Given the description of an element on the screen output the (x, y) to click on. 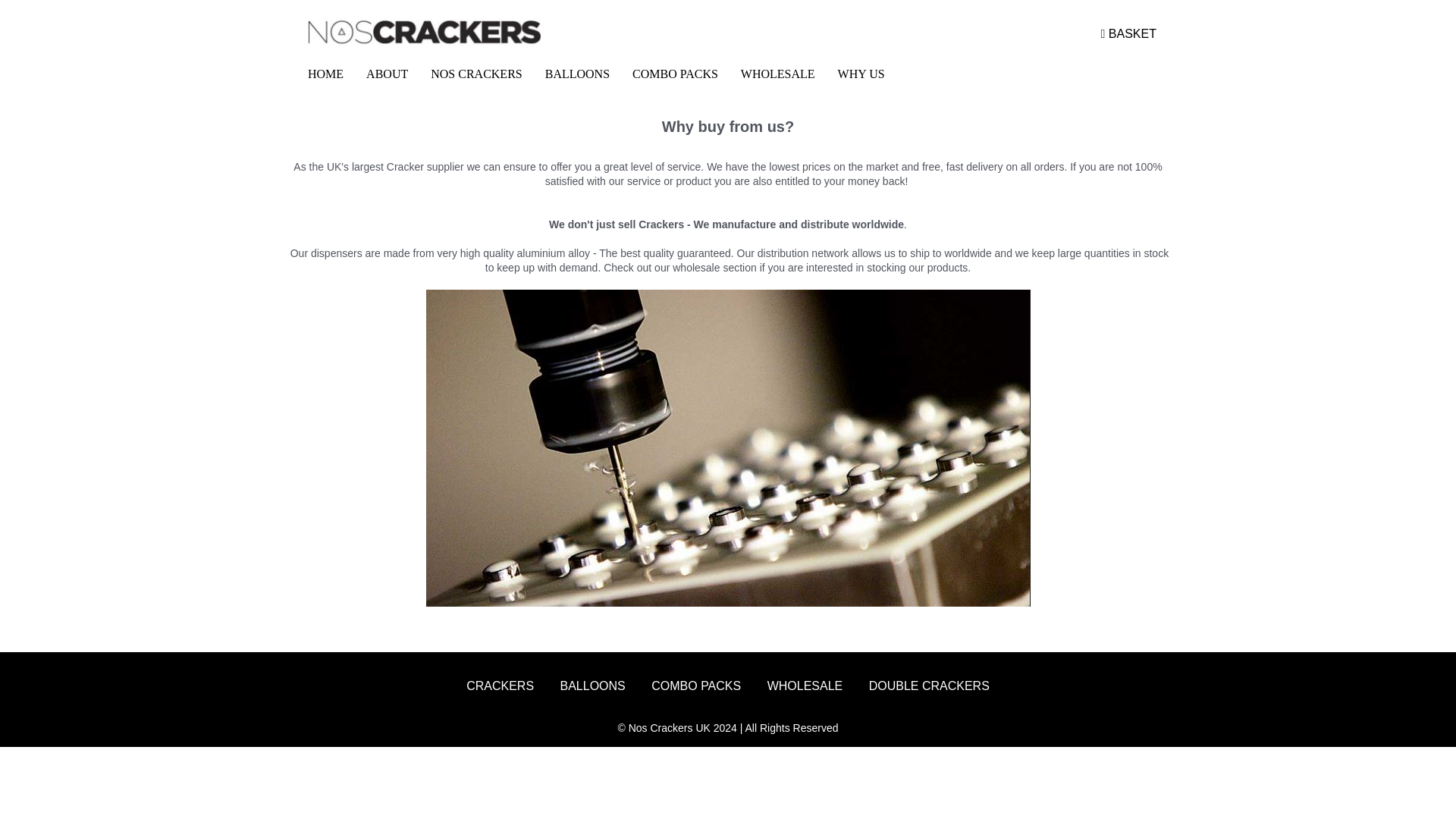
COMBO PACKS (675, 74)
BASKET (1128, 34)
BALLOONS (577, 74)
NOS CRACKERS (475, 74)
ABOUT (387, 74)
WHOLESALE (778, 74)
HOME (326, 74)
WHY US (861, 74)
